Given the description of an element on the screen output the (x, y) to click on. 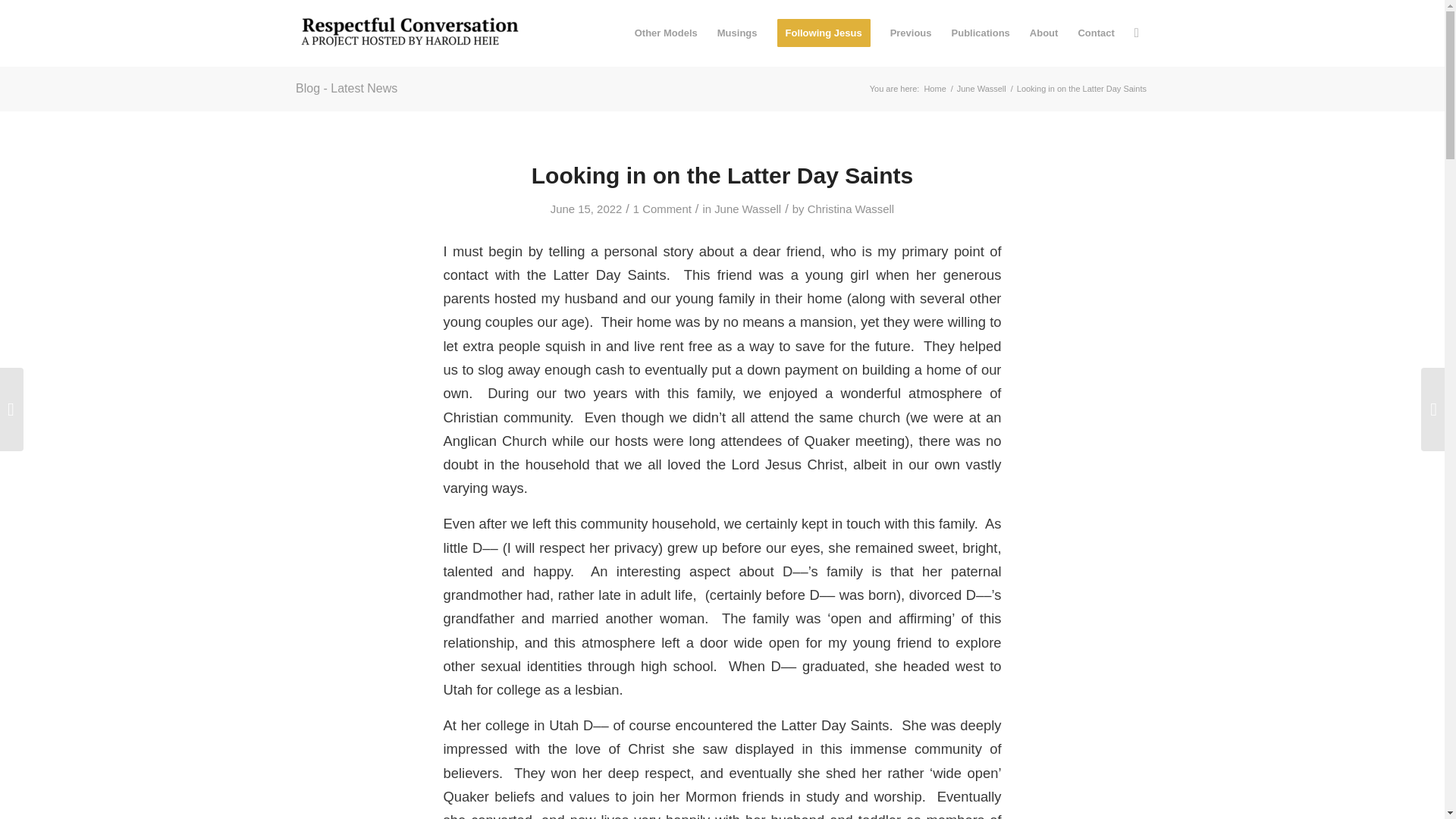
Posts by Christina Wassell (850, 209)
Musings (737, 33)
Other Models (665, 33)
Home (934, 89)
Blog - Latest News (346, 88)
1 Comment (662, 209)
Permanent Link: Blog - Latest News (346, 88)
June Wassell (747, 209)
Following Jesus (823, 33)
Respectful Conversation (934, 89)
